Given the description of an element on the screen output the (x, y) to click on. 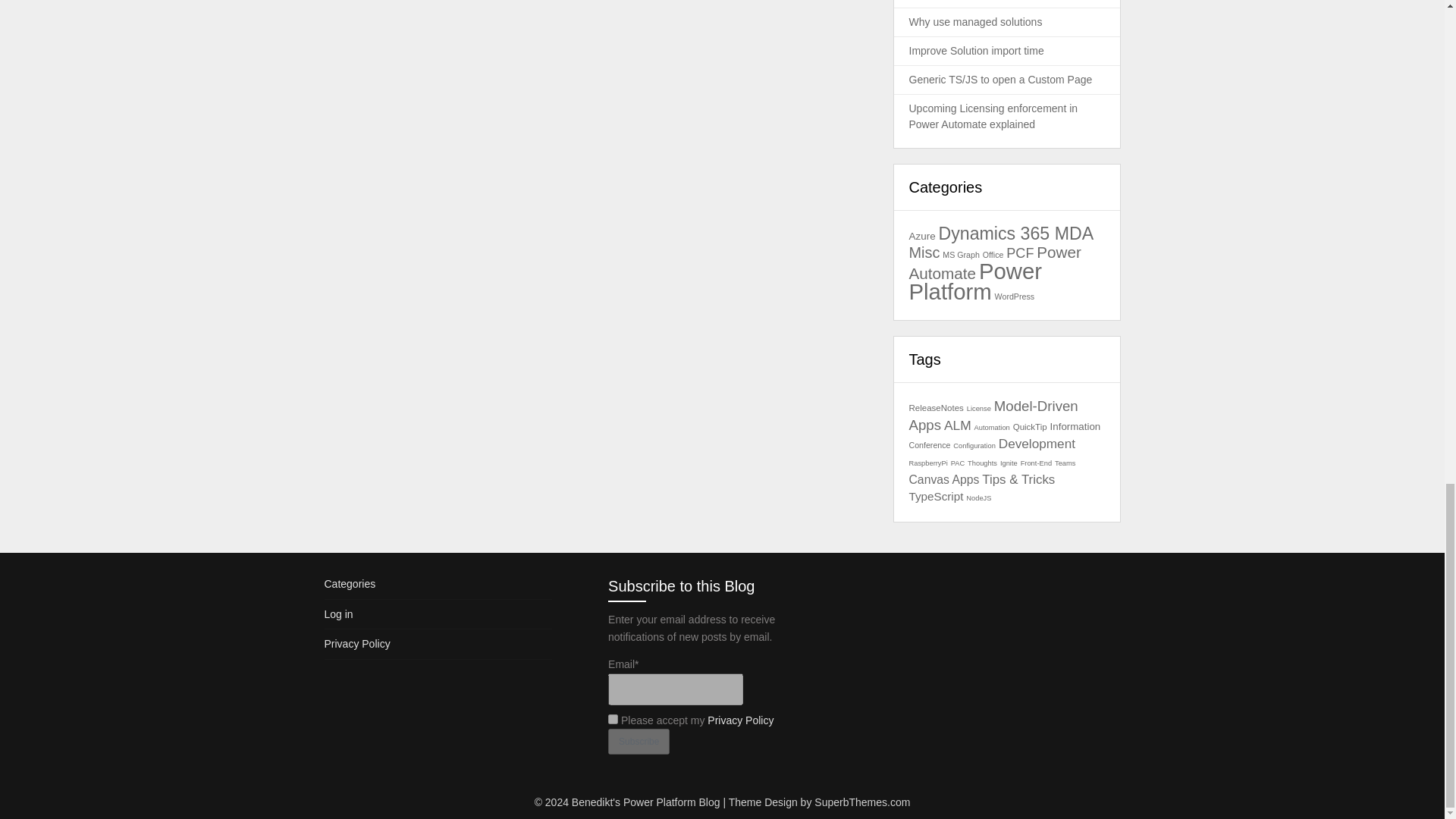
PCF (1019, 253)
Improve Solution import time (975, 50)
Dynamics 365 MDA (1016, 233)
Upcoming Licensing enforcement in Power Automate explained (992, 116)
MS Graph (960, 254)
Why use managed solutions (975, 21)
Misc (923, 252)
Office (993, 254)
Subscribe (638, 741)
Power Platform (975, 280)
Power Automate (994, 262)
true (612, 718)
WordPress (1014, 296)
Azure (921, 235)
